Given the description of an element on the screen output the (x, y) to click on. 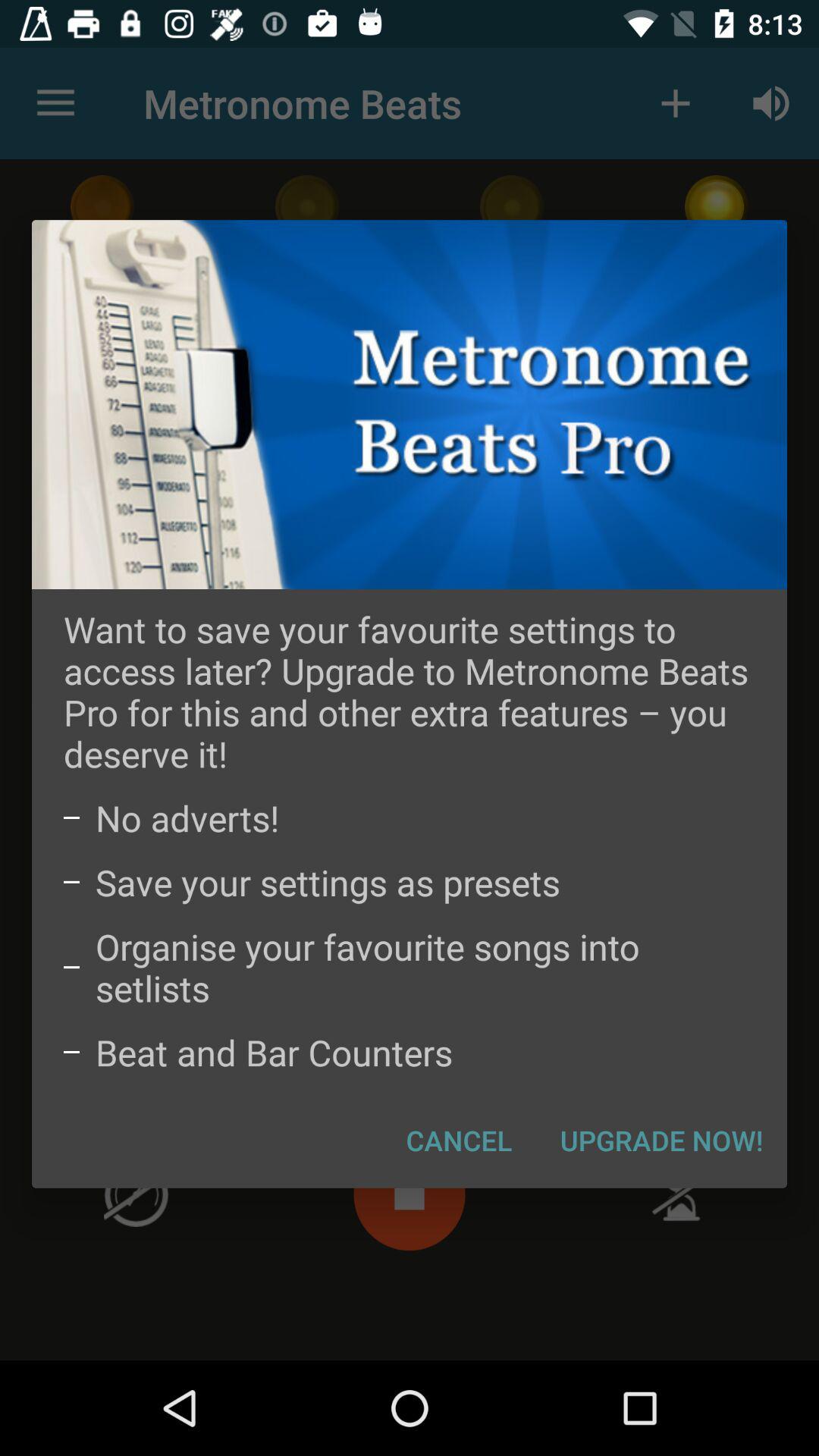
press item at the top (409, 404)
